Given the description of an element on the screen output the (x, y) to click on. 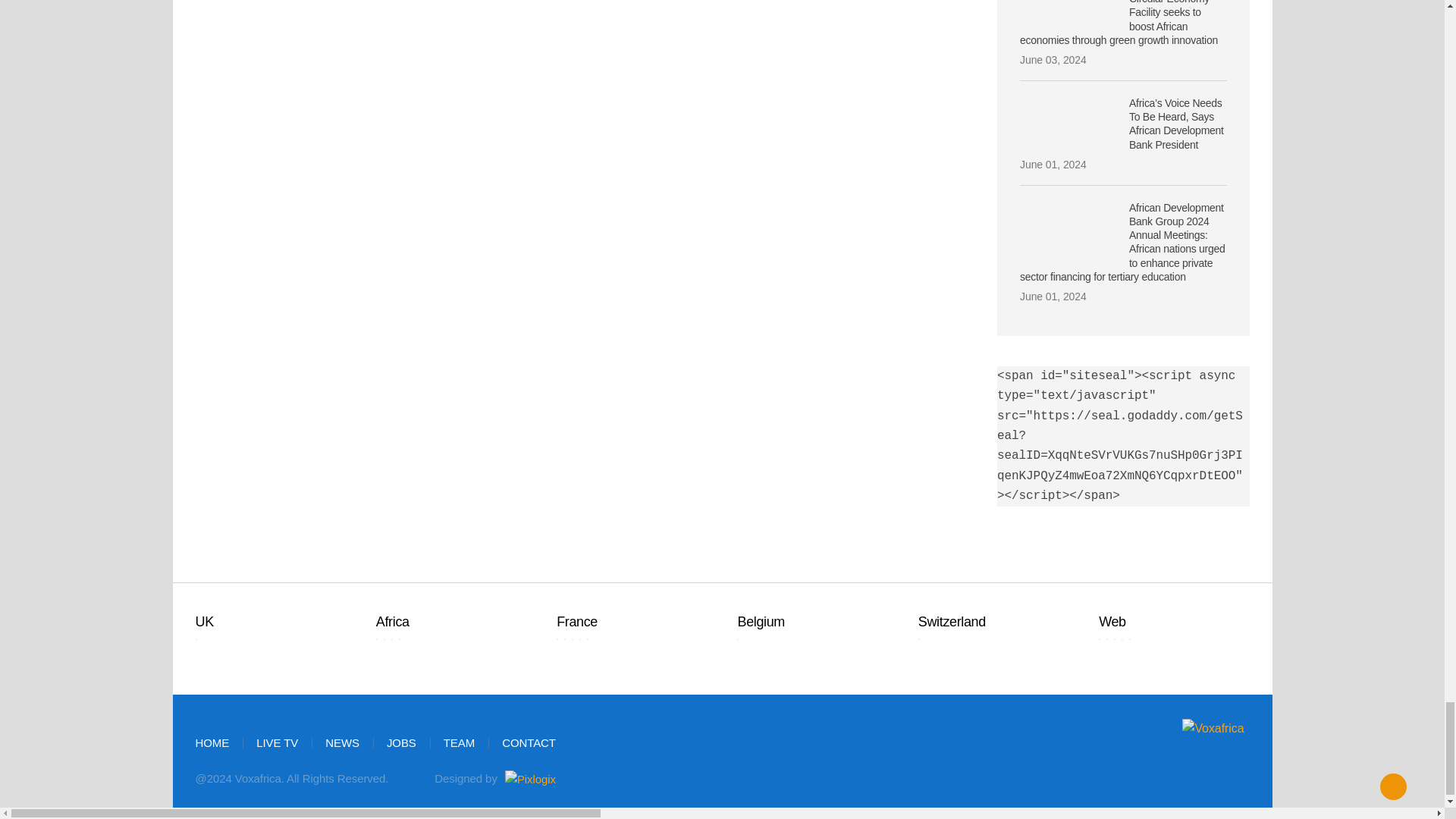
Voxafrica (1168, 728)
